Given the description of an element on the screen output the (x, y) to click on. 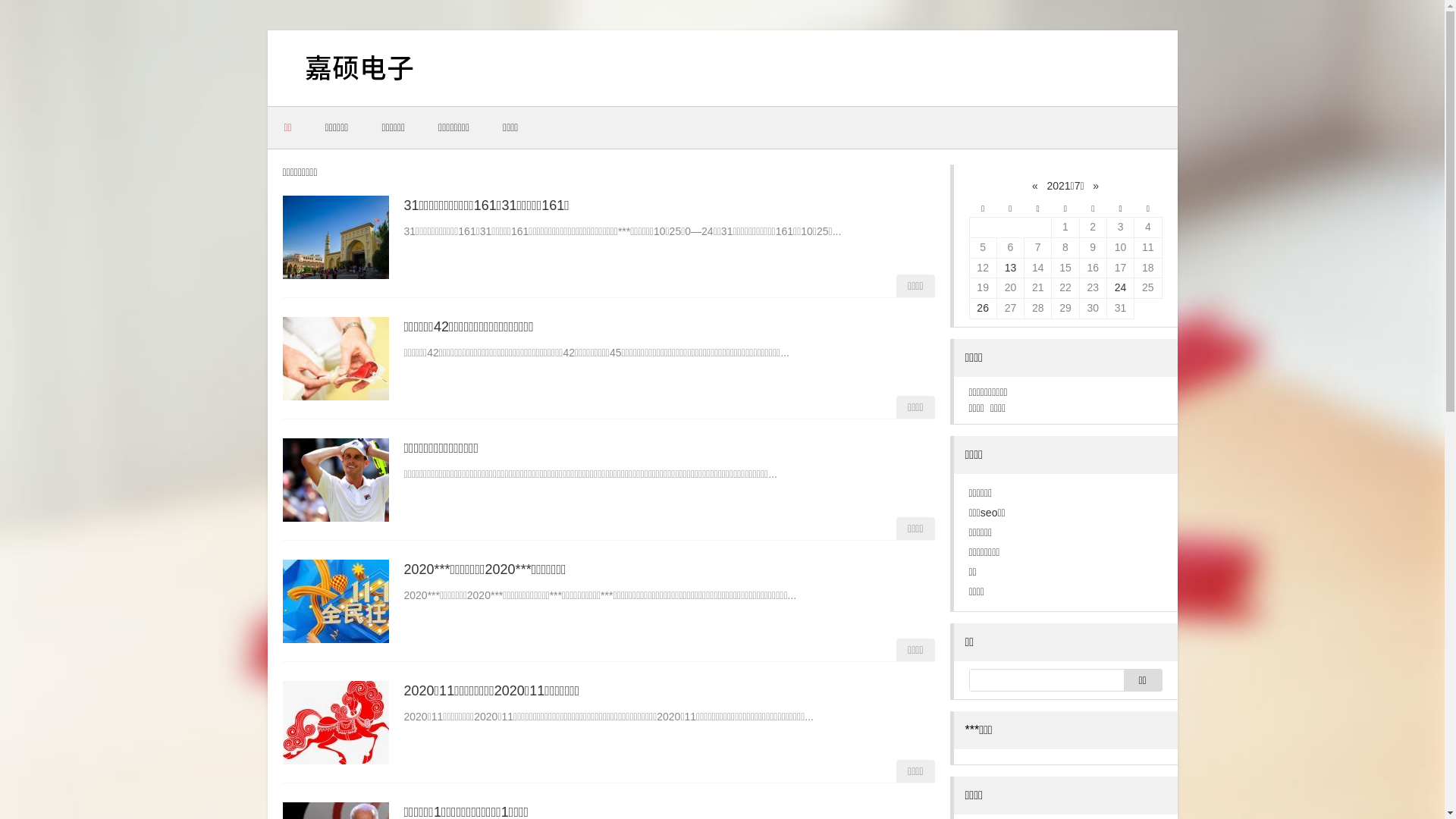
24 Element type: text (1120, 287)
26 Element type: text (982, 307)
13 Element type: text (1010, 267)
